Given the description of an element on the screen output the (x, y) to click on. 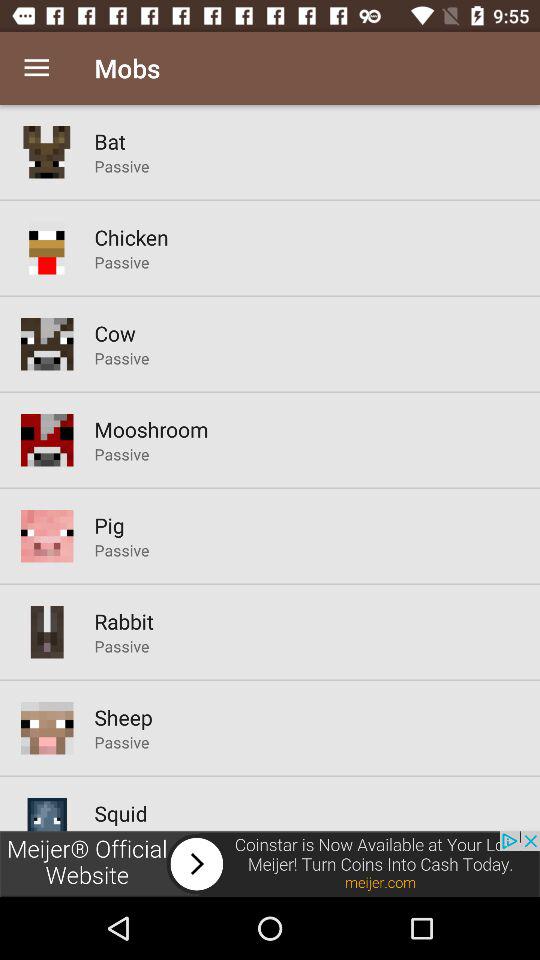
advertisement (270, 864)
